Given the description of an element on the screen output the (x, y) to click on. 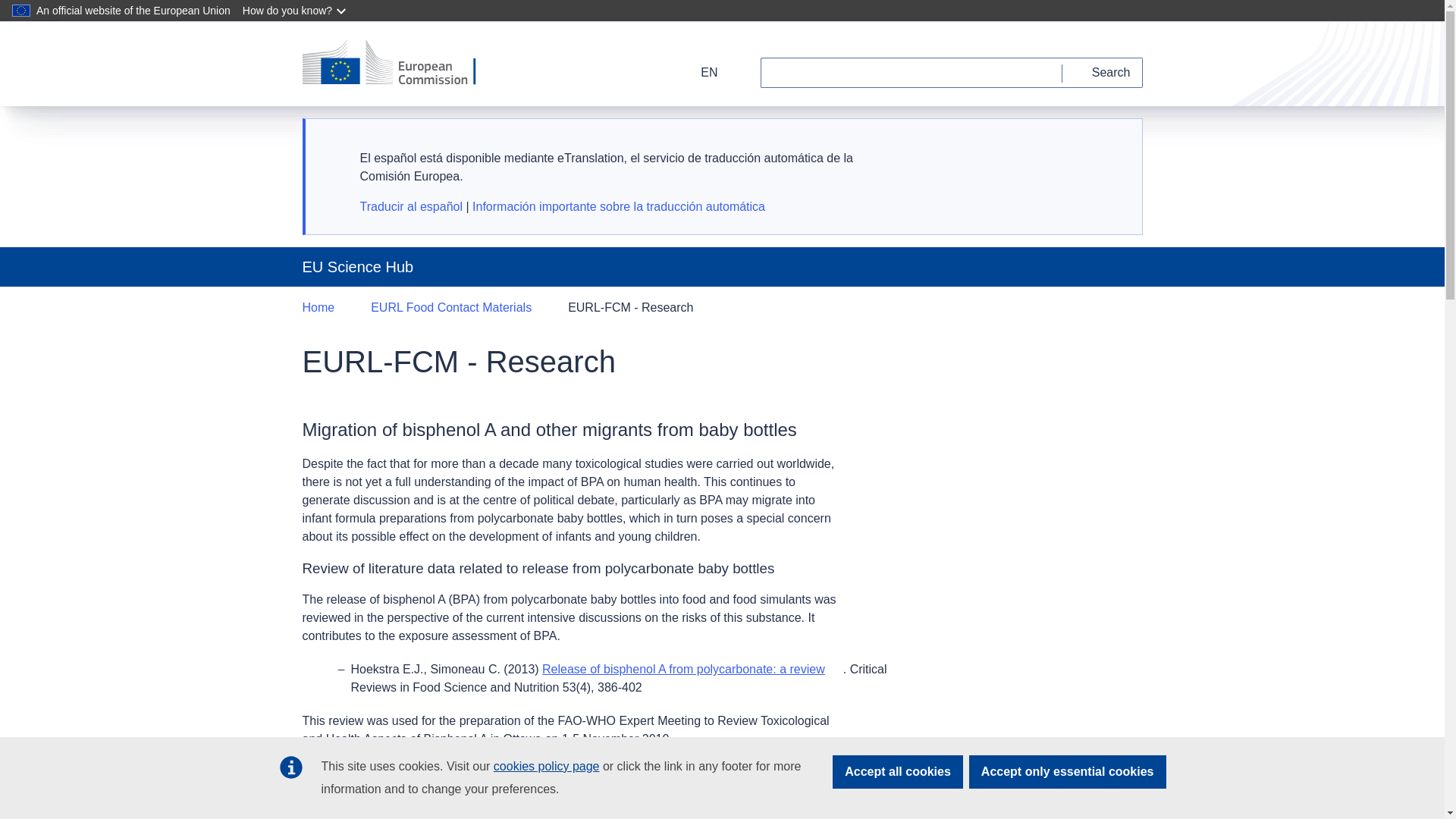
Accept all cookies (897, 771)
EURL Food Contact Materials (451, 307)
Cerrar este mensaje (1112, 146)
Search (1102, 72)
How do you know? (295, 10)
EN (699, 72)
European Commission (399, 63)
cookies policy page (546, 766)
Home (317, 307)
Release of bisphenol A from polycarbonate: a review (692, 668)
Accept only essential cookies (1067, 771)
